Given the description of an element on the screen output the (x, y) to click on. 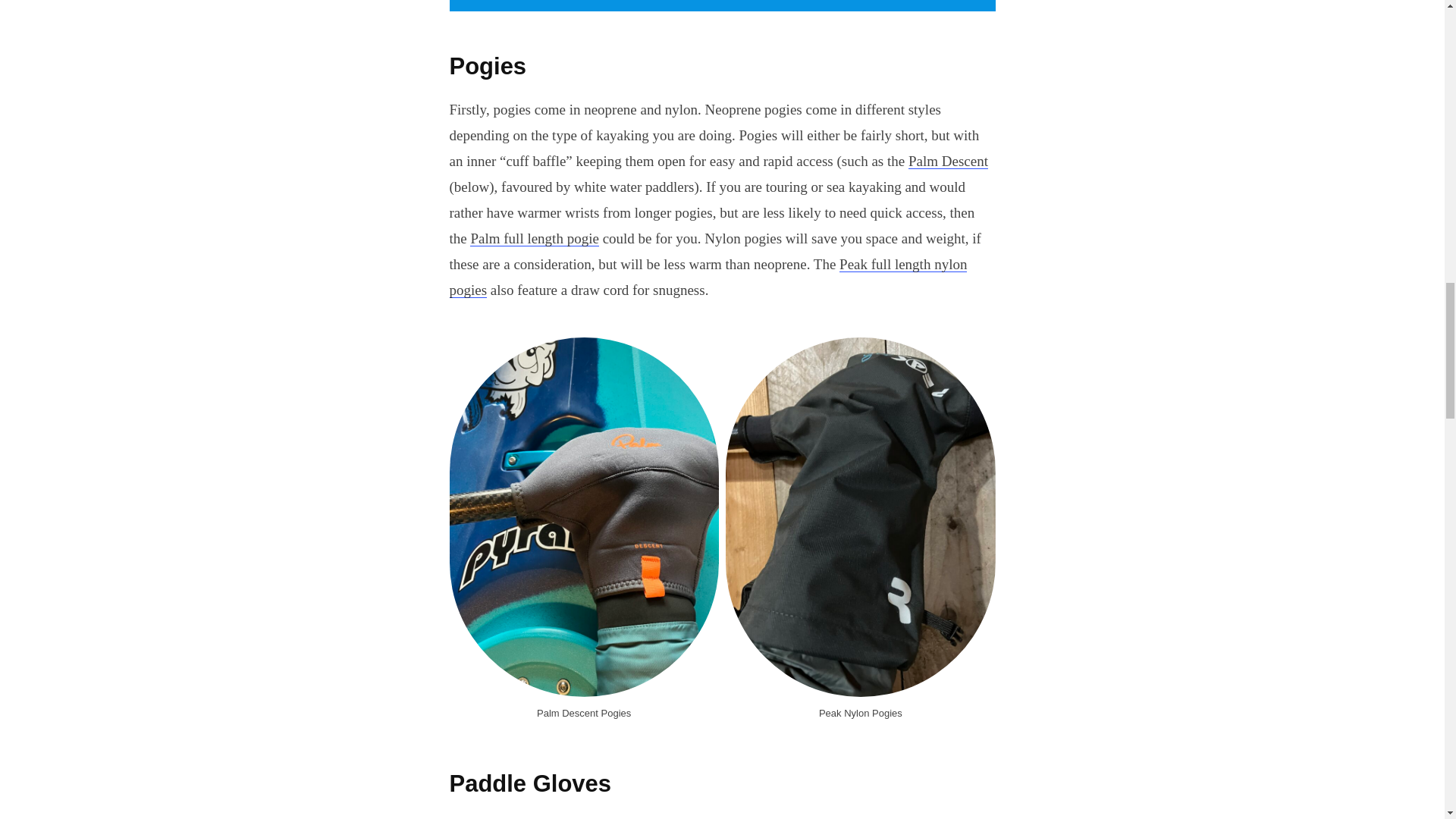
Palm Descent (948, 160)
Peak full length nylon pogies (707, 277)
VIEW OUR RANGE OF POGIES AND GLOVES HERE (721, 5)
Palm full length pogie (534, 238)
